Given the description of an element on the screen output the (x, y) to click on. 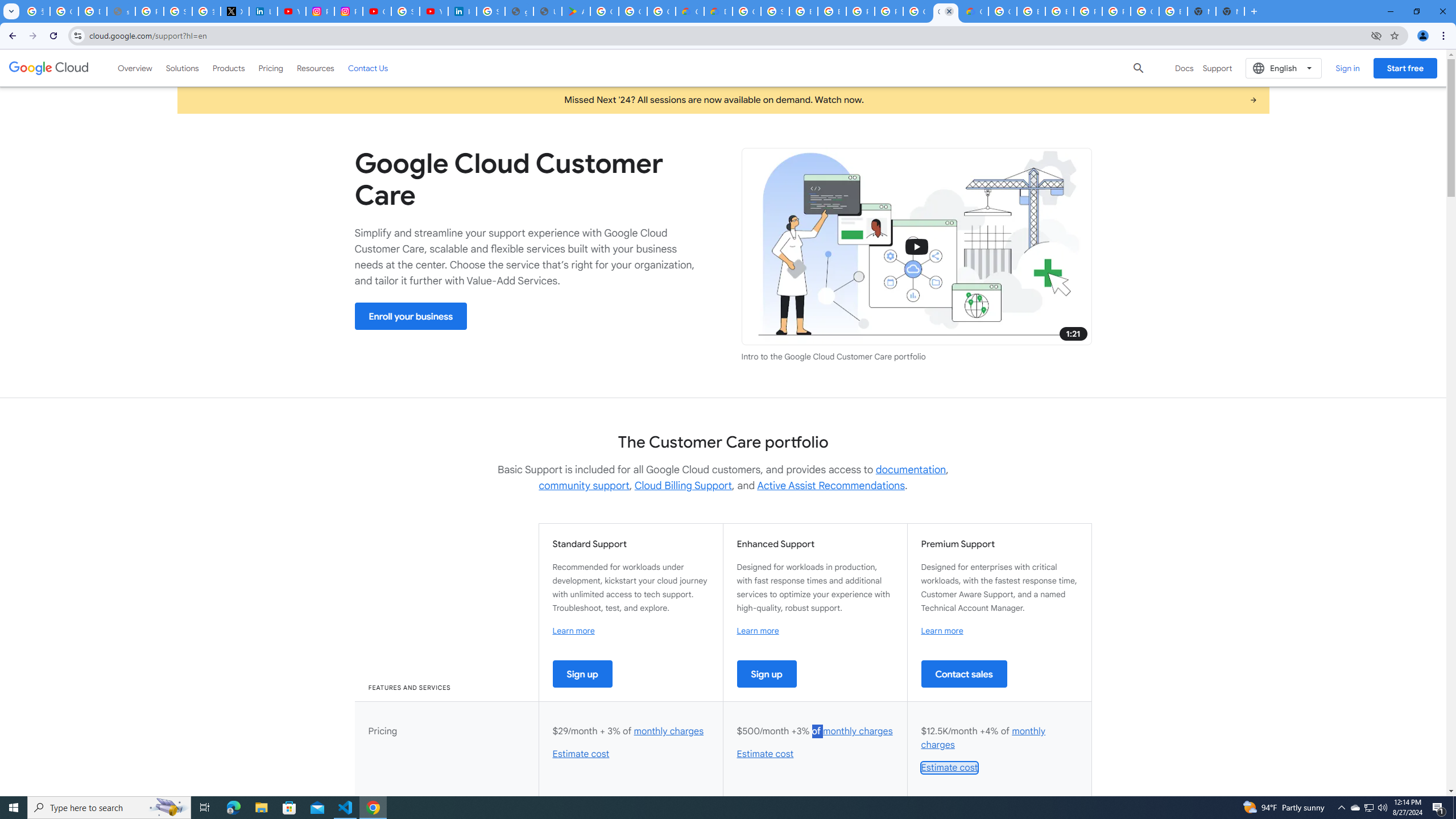
LinkedIn Privacy Policy (263, 11)
Docs (1183, 67)
Google Cloud (48, 67)
Google Cloud Platform (746, 11)
Enroll your business (410, 316)
Google Workspace - Specific Terms (632, 11)
Customer Care | Google Cloud (690, 11)
Customer Care | Google Cloud (945, 11)
Active Assist Recommendations (830, 485)
Cloud Billing Support (683, 485)
